Given the description of an element on the screen output the (x, y) to click on. 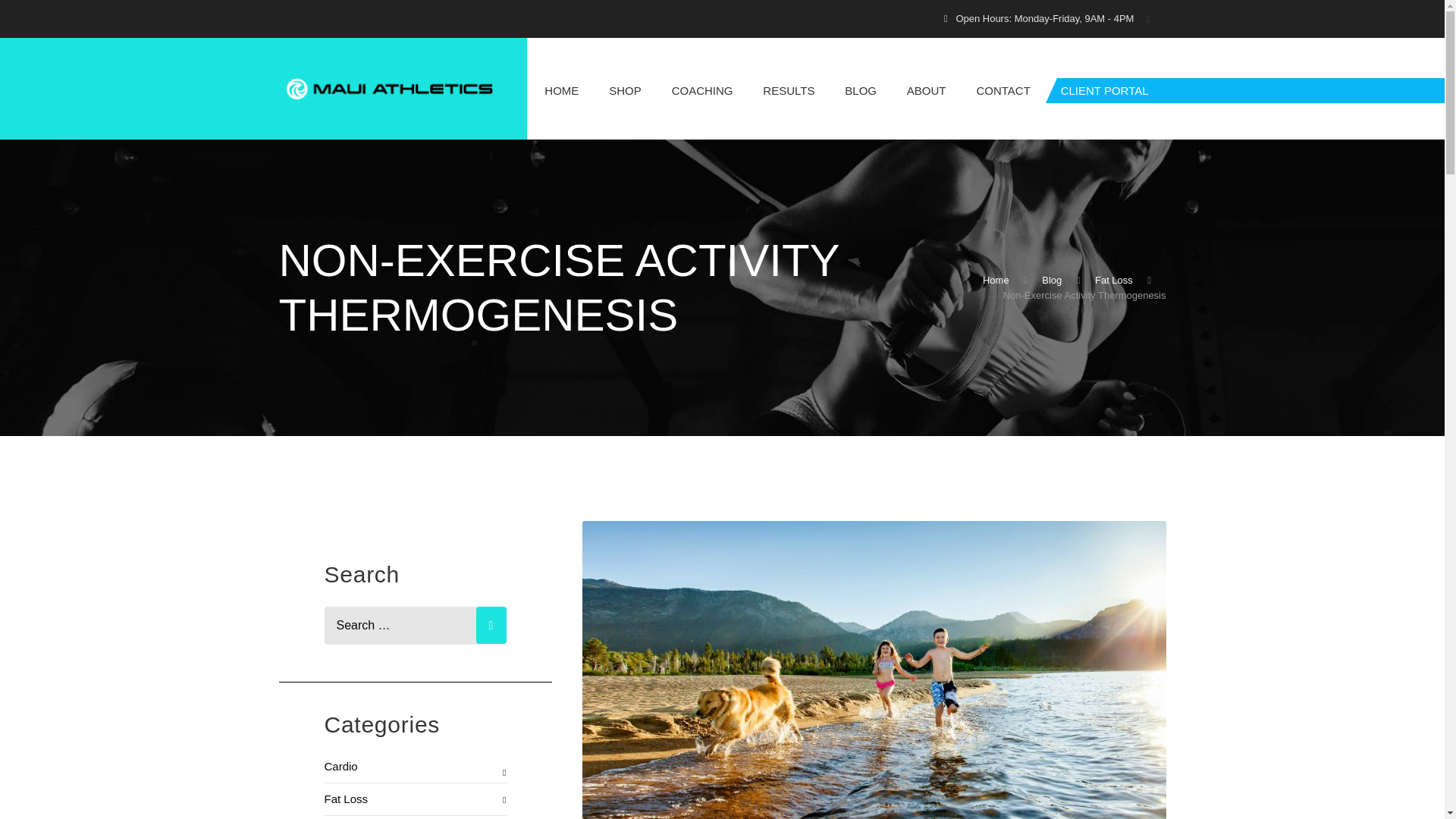
CLIENT PORTAL (1104, 89)
HOME (561, 89)
Blog (1051, 279)
CONTACT (1002, 89)
SHOP (625, 89)
Search for: (415, 625)
RESULTS (788, 89)
BLOG (860, 89)
Fat Loss (1113, 279)
Home (995, 279)
ABOUT (925, 89)
COACHING (702, 89)
